Given the description of an element on the screen output the (x, y) to click on. 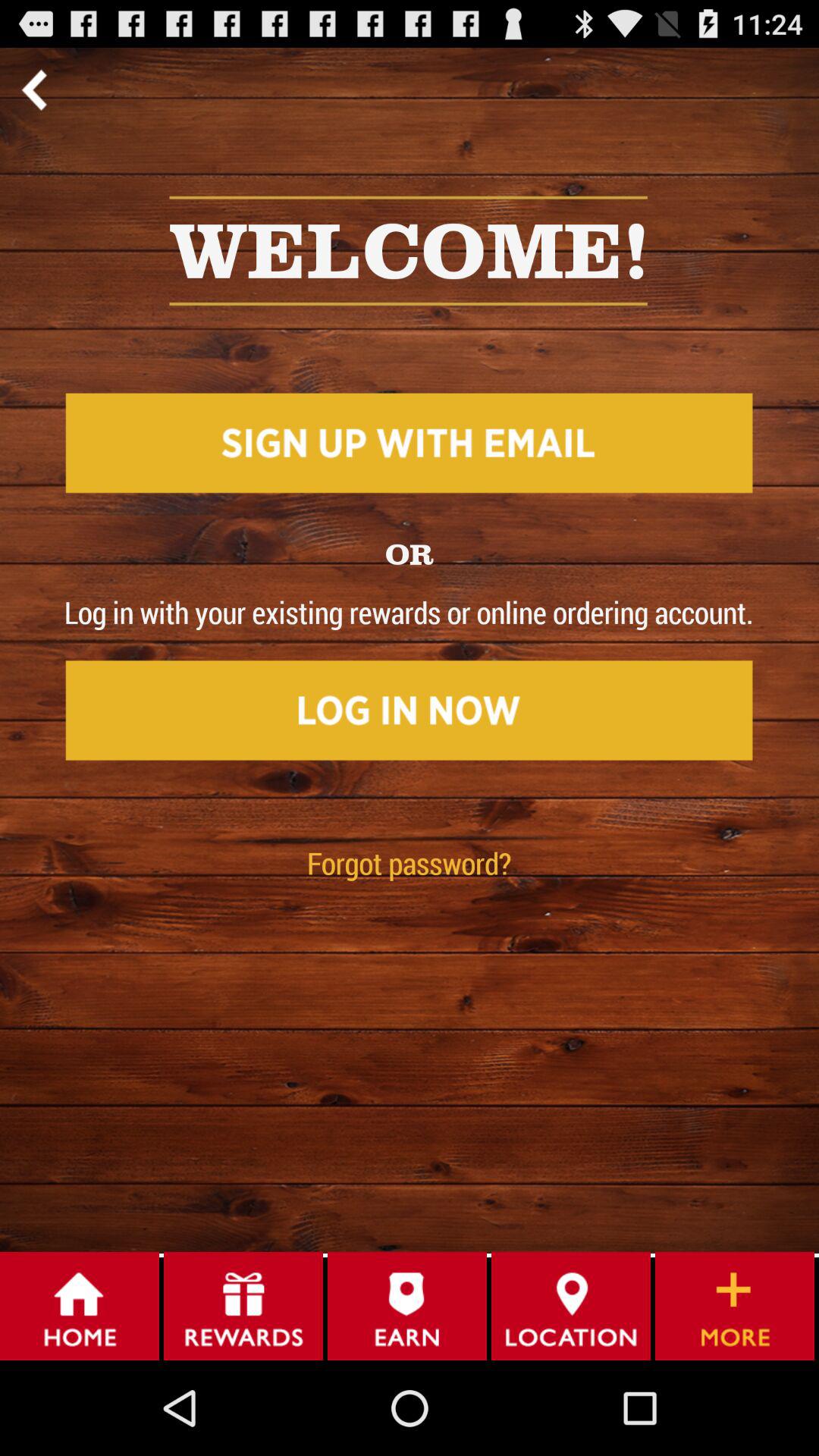
click item at the top left corner (33, 89)
